Given the description of an element on the screen output the (x, y) to click on. 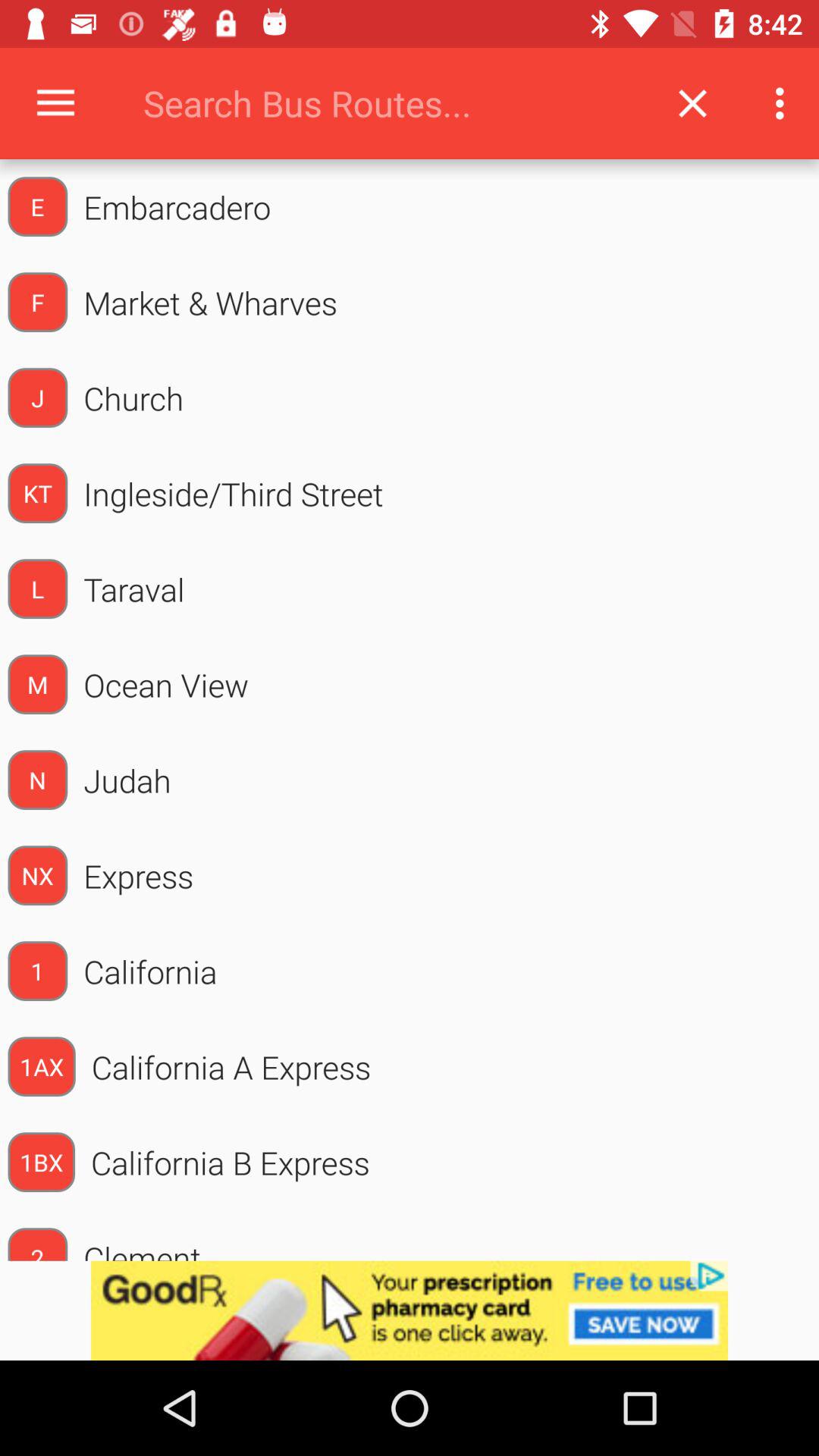
searching input (389, 103)
